Given the description of an element on the screen output the (x, y) to click on. 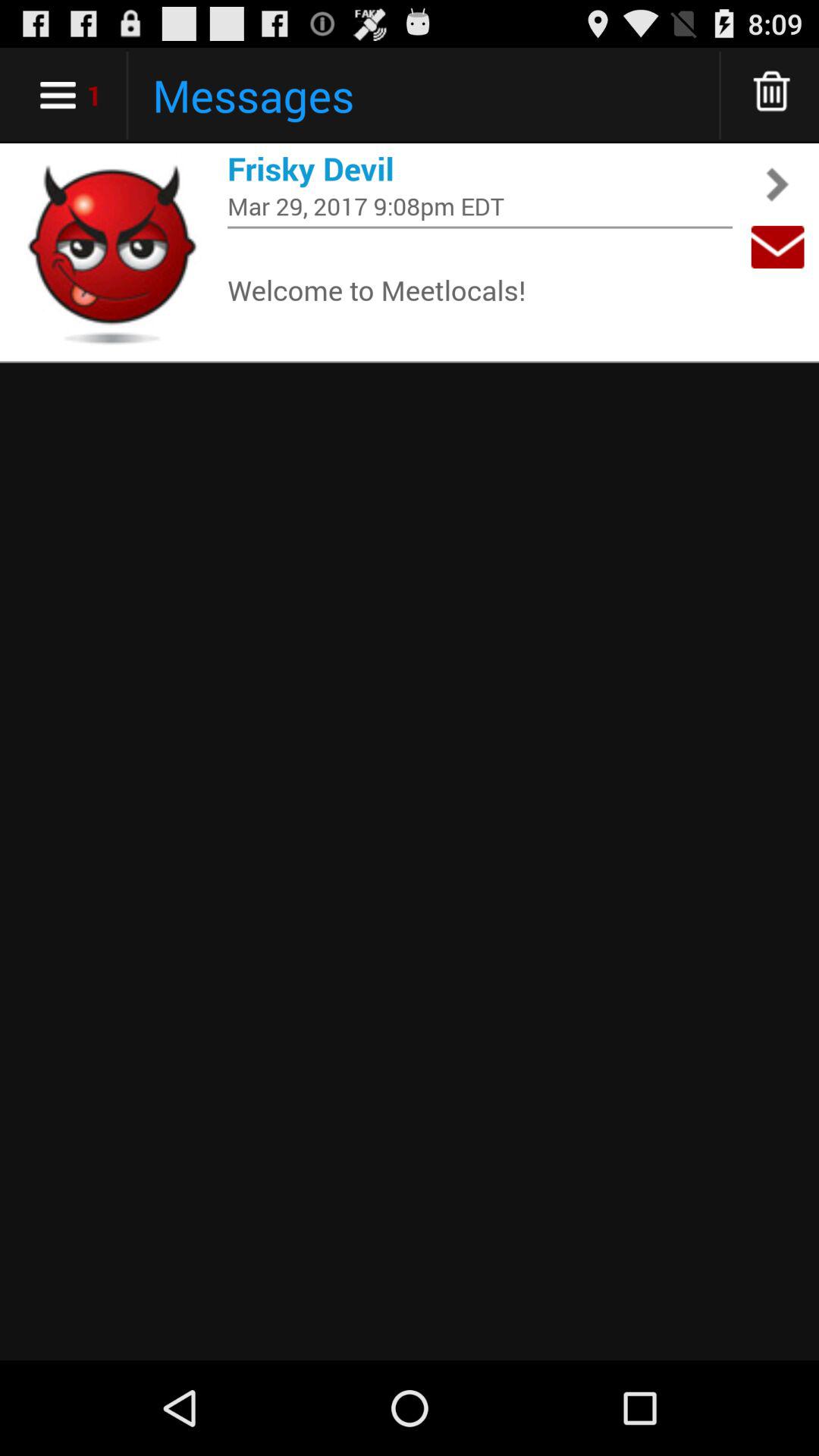
flip until the frisky devil (479, 168)
